Given the description of an element on the screen output the (x, y) to click on. 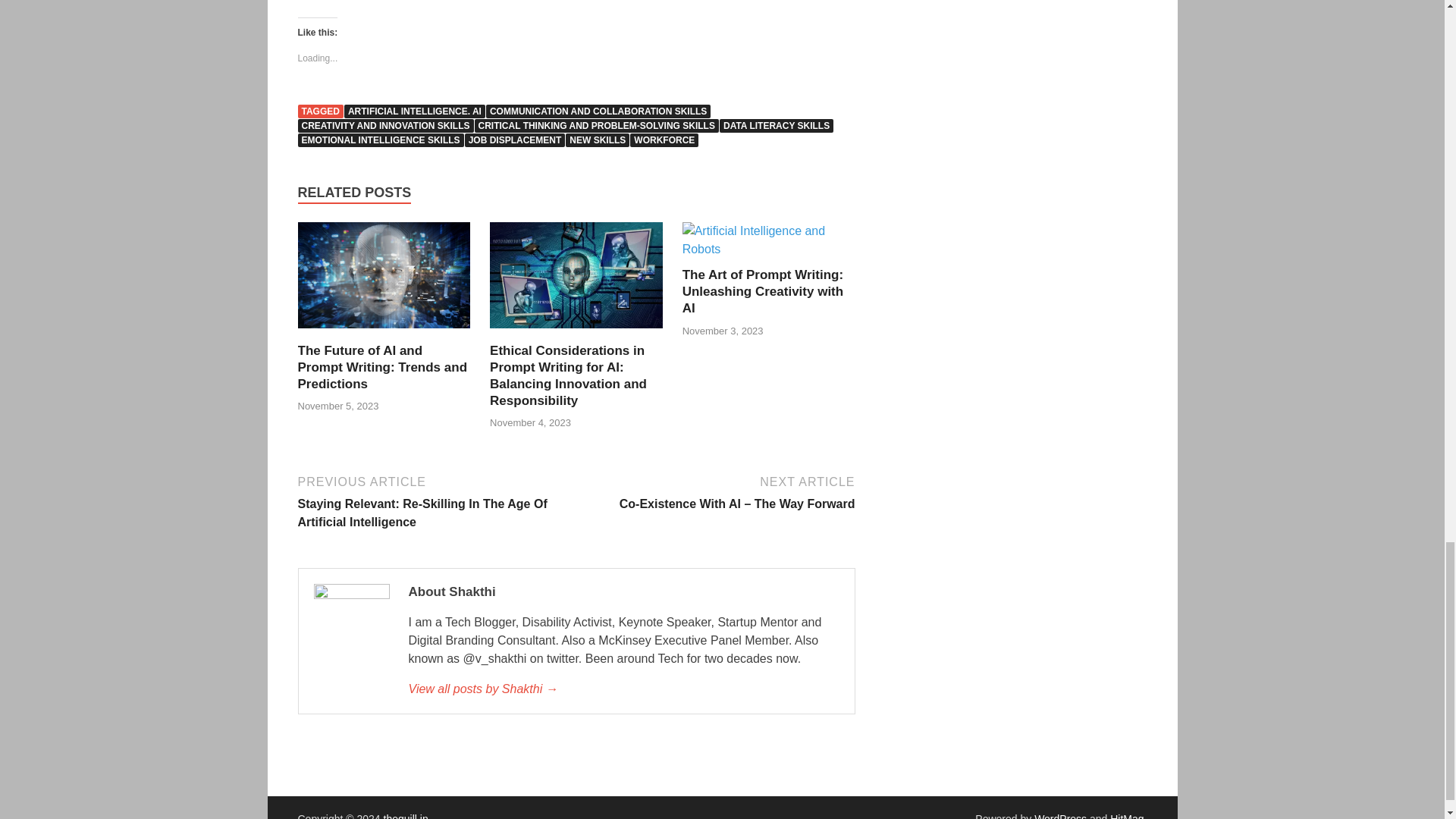
JOB DISPLACEMENT (515, 140)
The Art of Prompt Writing: Unleashing Creativity with AI (763, 291)
The Future of AI and Prompt Writing: Trends and Predictions (382, 367)
The Art of Prompt Writing: Unleashing Creativity with AI (763, 291)
WORKFORCE (664, 140)
Shakthi (622, 689)
ARTIFICIAL INTELLIGENCE. AI (413, 110)
DATA LITERACY SKILLS (775, 125)
COMMUNICATION AND COLLABORATION SKILLS (598, 110)
